Given the description of an element on the screen output the (x, y) to click on. 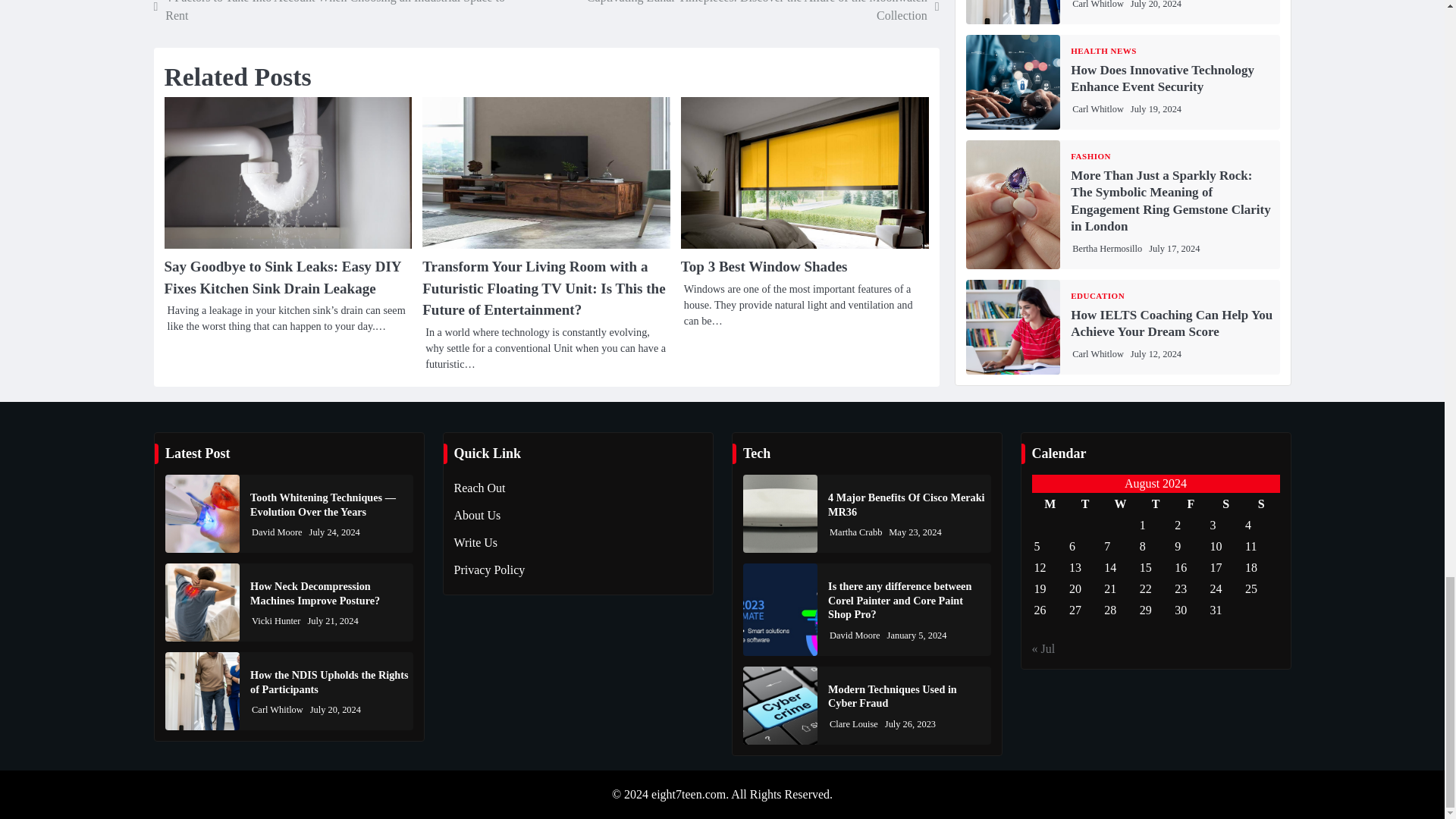
Tuesday (1085, 504)
Monday (1048, 504)
Saturday (1226, 504)
Sunday (1261, 504)
Wednesday (1120, 504)
Top 3 Best Window Shades (764, 266)
Friday (1190, 504)
